Given the description of an element on the screen output the (x, y) to click on. 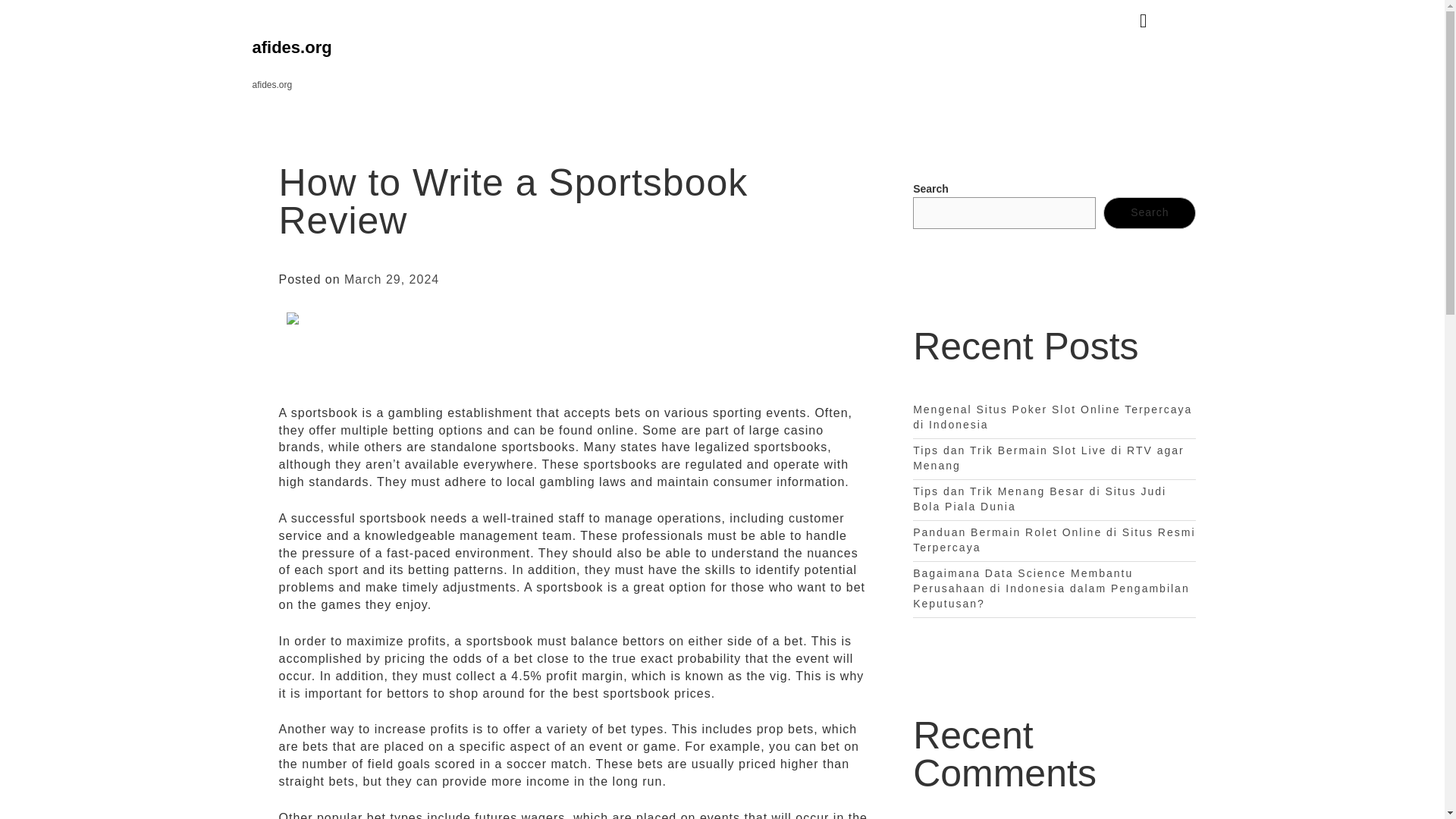
March 29, 2024 (391, 278)
Tips dan Trik Bermain Slot Live di RTV agar Menang (1048, 457)
Mengenal Situs Poker Slot Online Terpercaya di Indonesia (1052, 416)
Search (1149, 213)
Panduan Bermain Rolet Online di Situs Resmi Terpercaya (1053, 539)
Tips dan Trik Menang Besar di Situs Judi Bola Piala Dunia (1039, 498)
afides.org (291, 46)
